Given the description of an element on the screen output the (x, y) to click on. 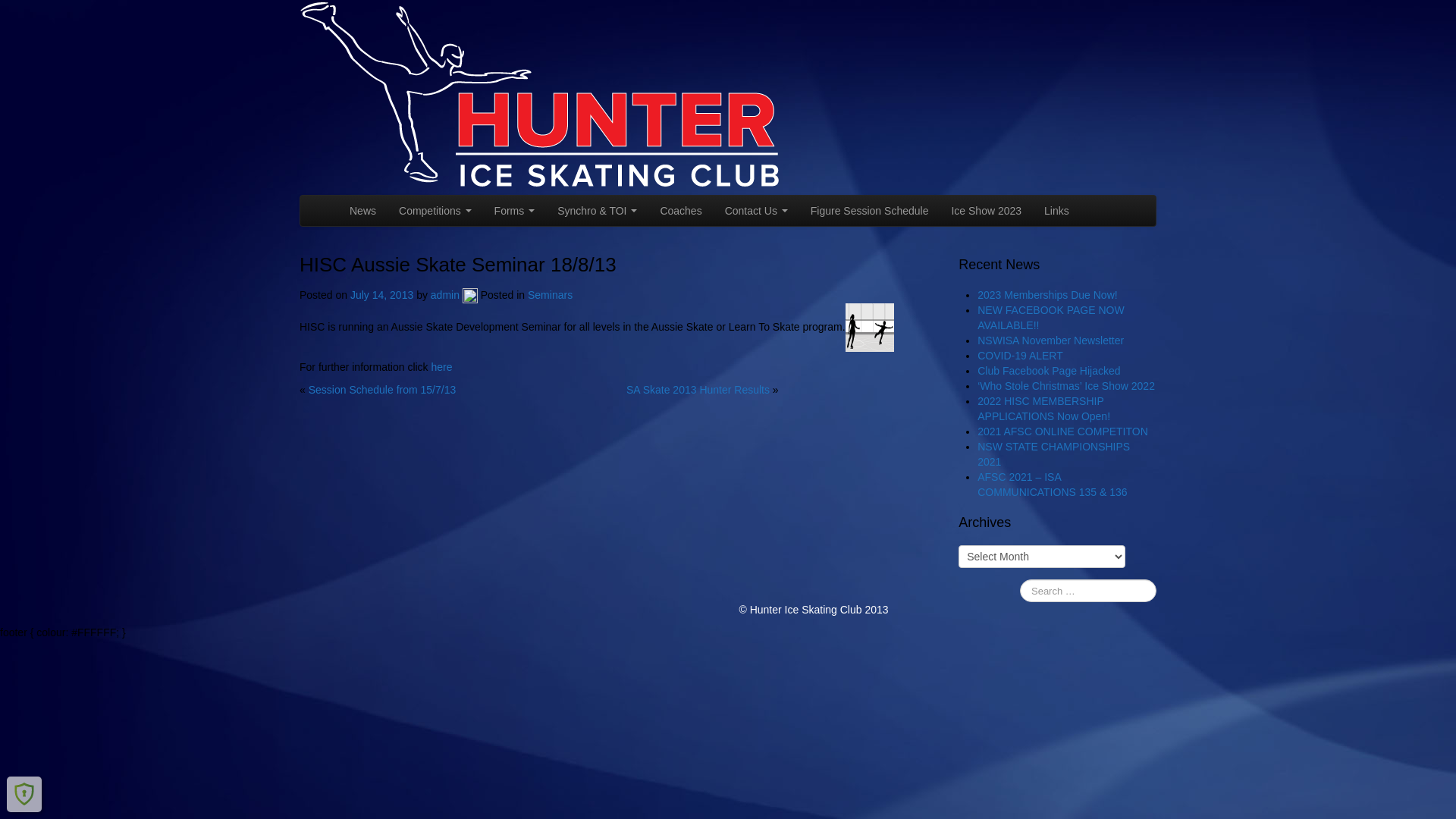
admin Element type: text (444, 294)
NEW FACEBOOK PAGE NOW AVAILABLE!! Element type: text (1050, 317)
Session Schedule from 15/7/13 Element type: text (382, 389)
Links Element type: text (1056, 210)
Ice Show 2023 Element type: text (985, 210)
NSWISA November Newsletter Element type: text (1050, 340)
July 14, 2013 Element type: text (383, 294)
2023 Memberships Due Now! Element type: text (1047, 294)
Club Facebook Page Hijacked Element type: text (1048, 370)
ShieldPRO Element type: hover (24, 793)
Synchro & TOI Element type: text (597, 210)
HUNTER ICE SKATING CLUB Element type: hover (543, 96)
View all posts by admin Element type: hover (469, 294)
Contact Us Element type: text (756, 210)
News Element type: text (362, 210)
Seminars Element type: text (549, 294)
NSW STATE CHAMPIONSHIPS 2021 Element type: text (1053, 453)
Coaches Element type: text (680, 210)
2021 AFSC ONLINE COMPETITON Element type: text (1062, 431)
Figure Session Schedule Element type: text (869, 210)
2022 HISC MEMBERSHIP APPLICATIONS Now Open! Element type: text (1043, 408)
here Element type: text (440, 366)
COVID-19 ALERT Element type: text (1020, 355)
Forms Element type: text (514, 210)
Competitions Element type: text (435, 210)
SA Skate 2013 Hunter Results Element type: text (697, 389)
